Given the description of an element on the screen output the (x, y) to click on. 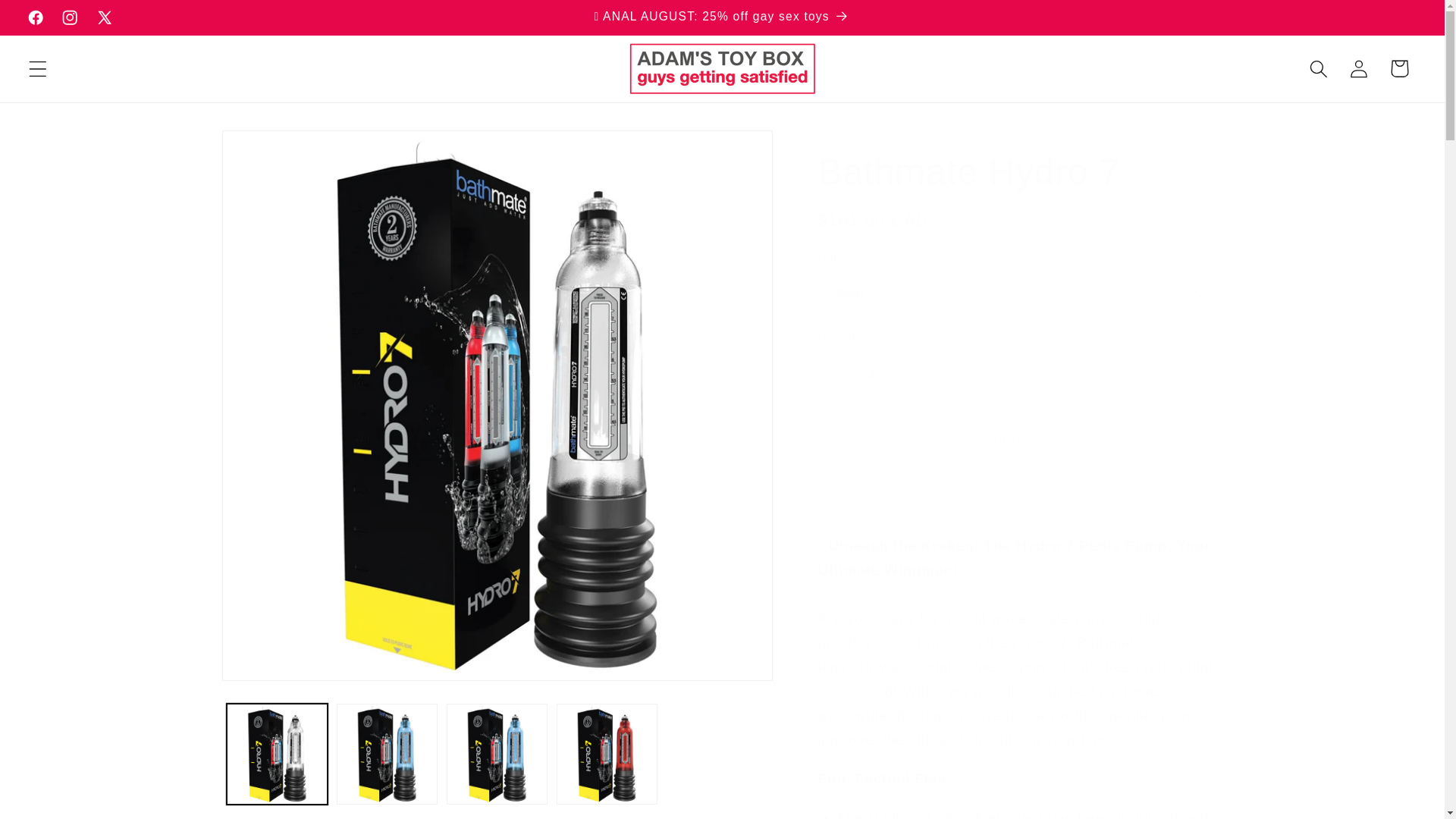
Facebook (34, 17)
1 (870, 372)
Skip to content (55, 20)
Instagram (69, 17)
